Given the description of an element on the screen output the (x, y) to click on. 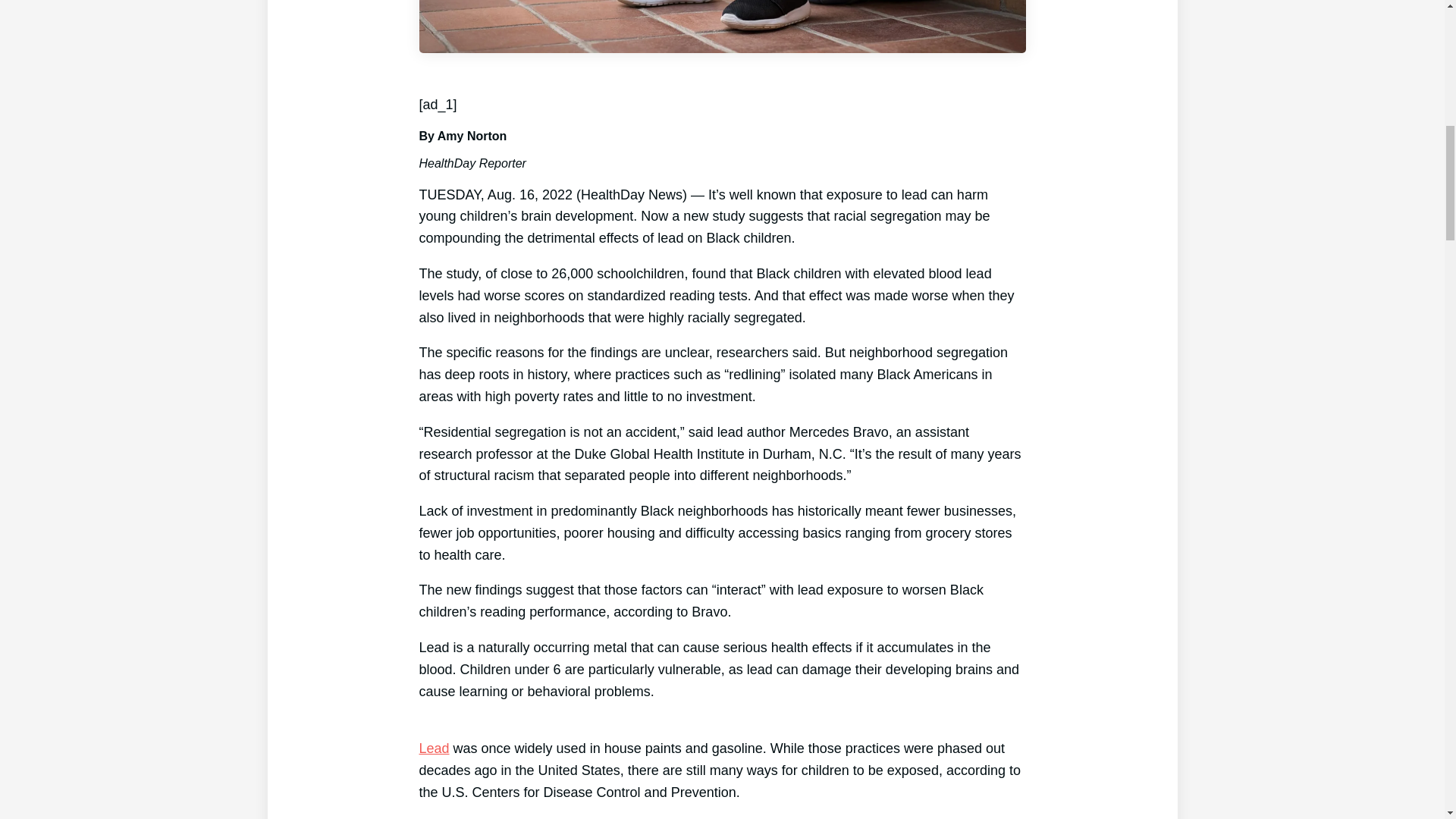
Lead (433, 748)
